Given the description of an element on the screen output the (x, y) to click on. 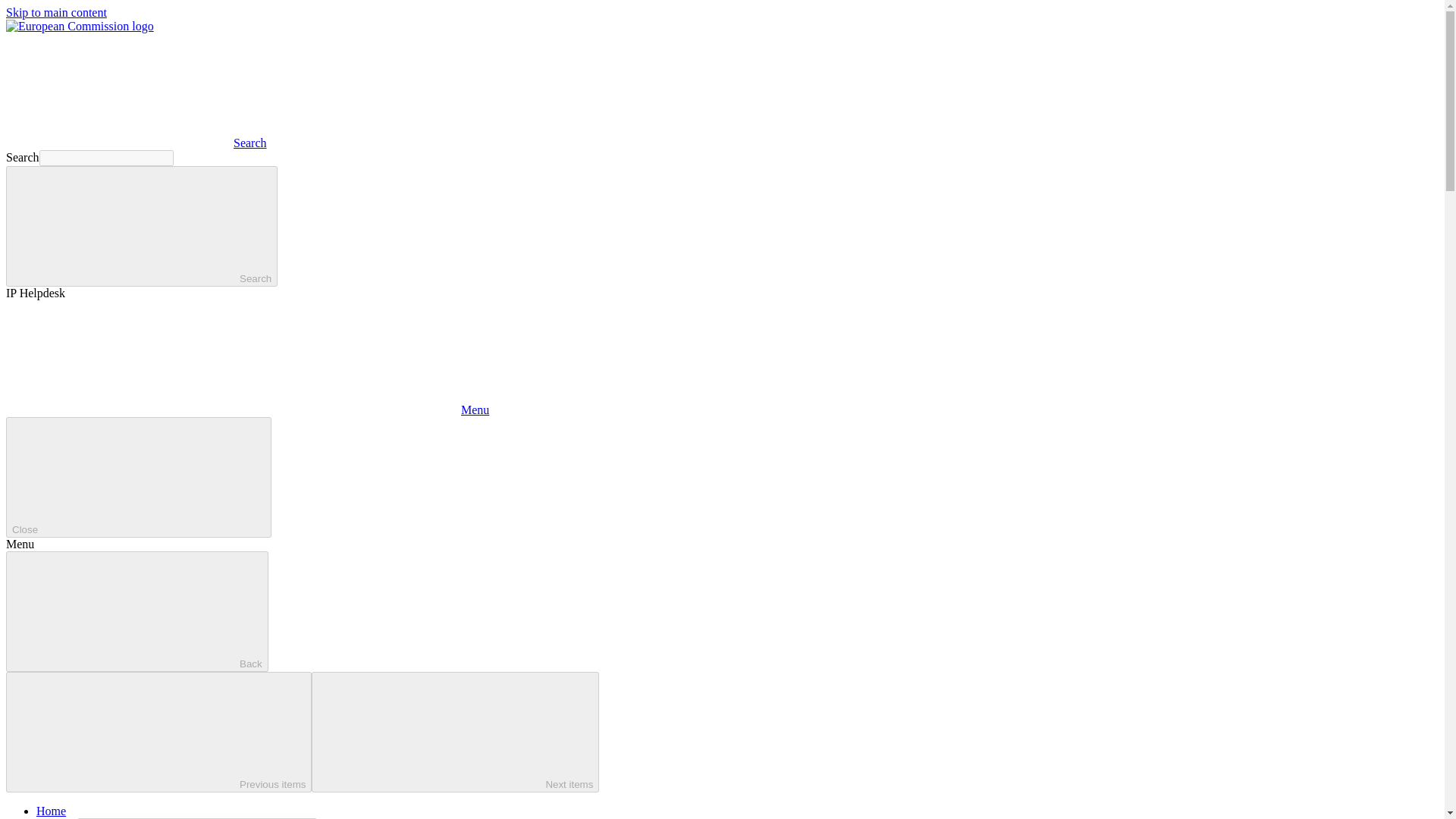
Next items (454, 731)
Search (141, 226)
Menu (247, 409)
Home (50, 810)
Close (137, 476)
Back (136, 611)
Skip to main content (55, 11)
Search (135, 142)
European Commission (79, 25)
Previous items (158, 731)
